Given the description of an element on the screen output the (x, y) to click on. 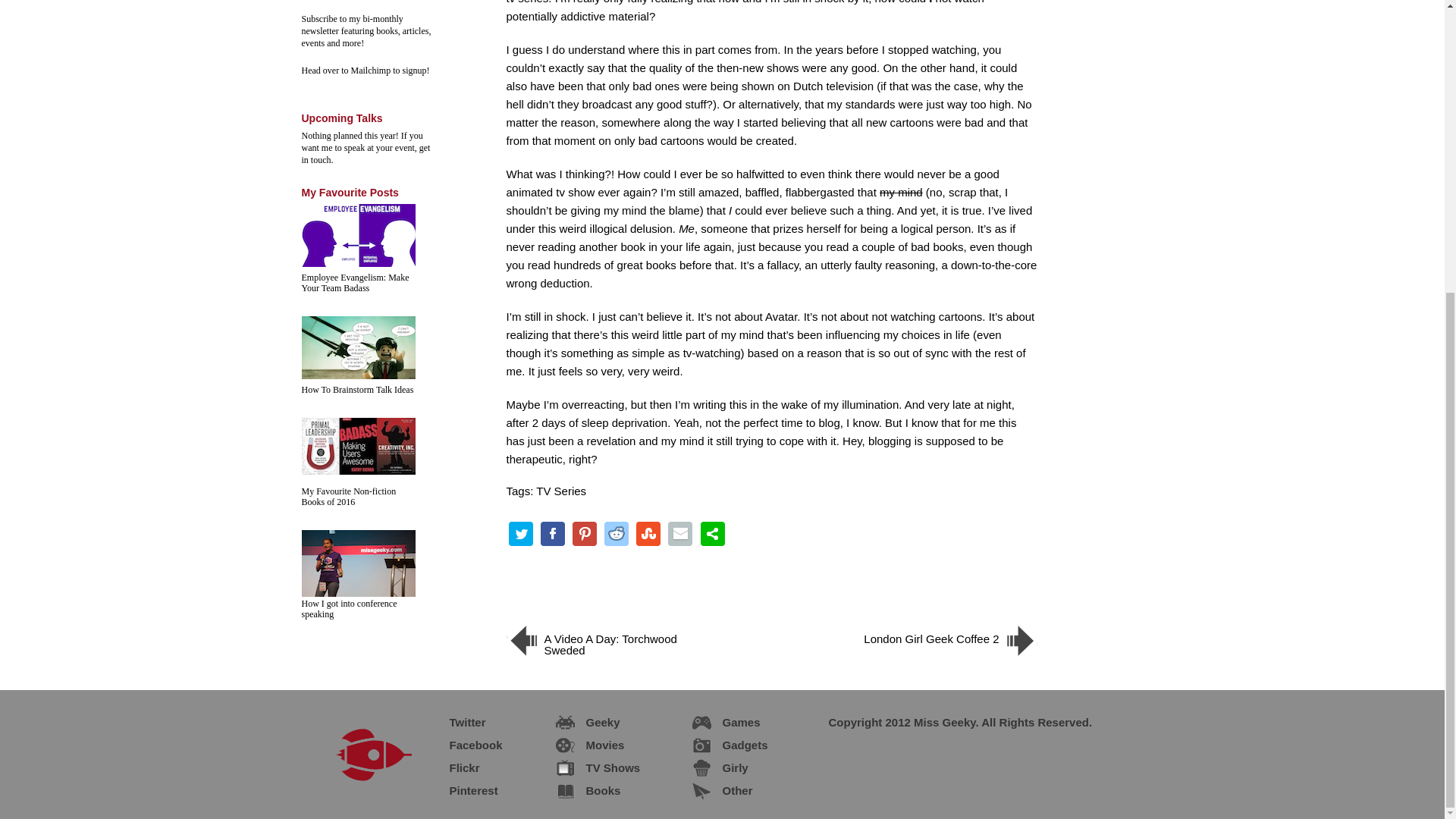
Books (590, 788)
Head over to Mailchimp to signup! (365, 70)
Geeky (590, 720)
Gadgets (732, 743)
Girly (722, 765)
London Girl Geek Coffee 2 (941, 647)
TV Series (560, 490)
Twitter (455, 720)
Movies (592, 743)
How I got into conference speaking (349, 608)
Facebook (463, 743)
Games (728, 720)
A Video A Day: Torchwood Sweded (600, 647)
Flickr (451, 765)
Employee Evangelism: Make Your Team Badass (355, 282)
